Given the description of an element on the screen output the (x, y) to click on. 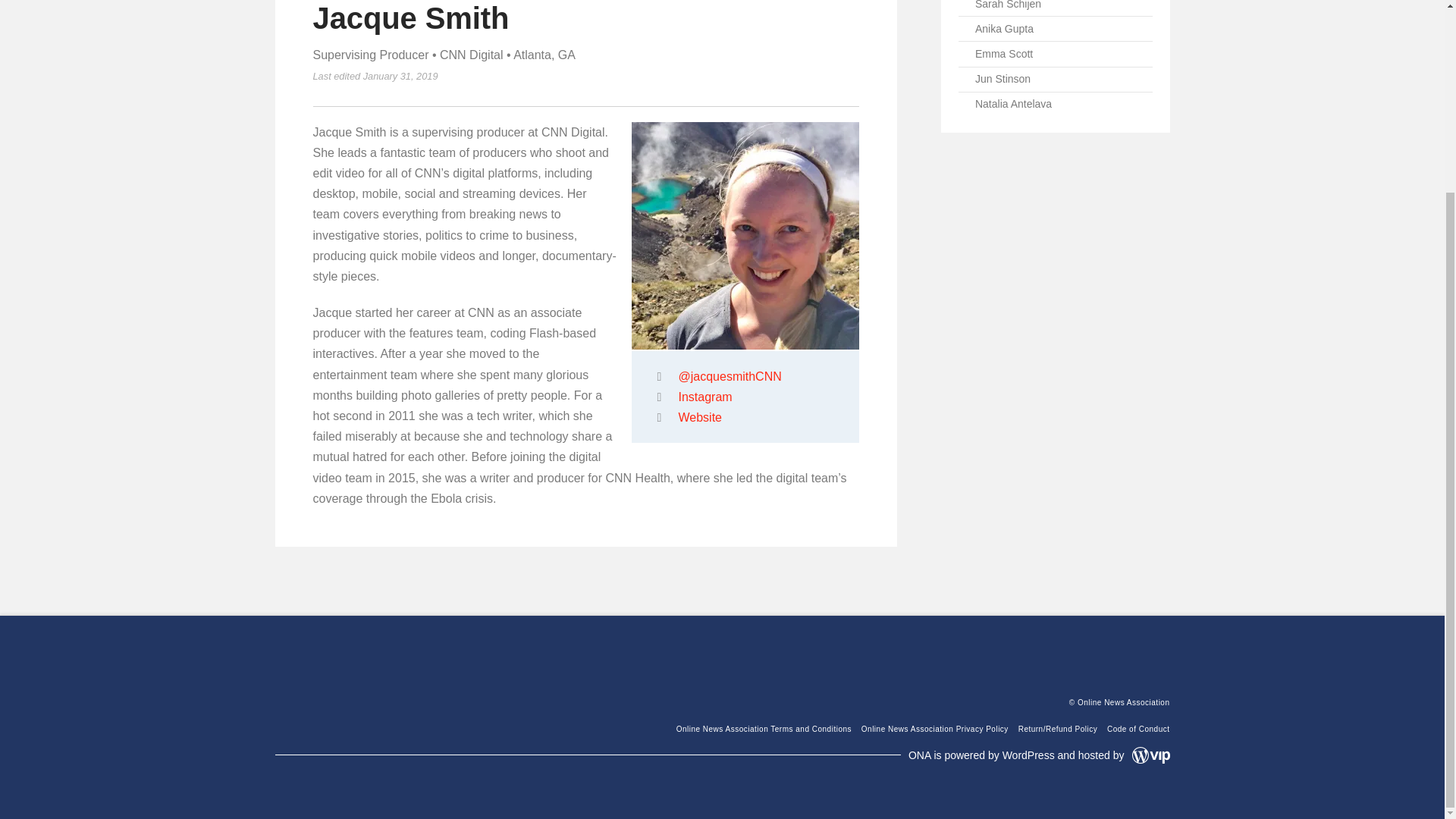
Instagram (705, 396)
Online News Association Terms and Conditions (764, 728)
Sarah Schijen (1055, 8)
Code of Conduct (1138, 728)
Jun Stinson (1055, 79)
Natalia Antelava (1055, 104)
Emma Scott (1055, 53)
Anika Gupta (1055, 28)
Website (700, 417)
Online News Association Privacy Policy (935, 728)
